Given the description of an element on the screen output the (x, y) to click on. 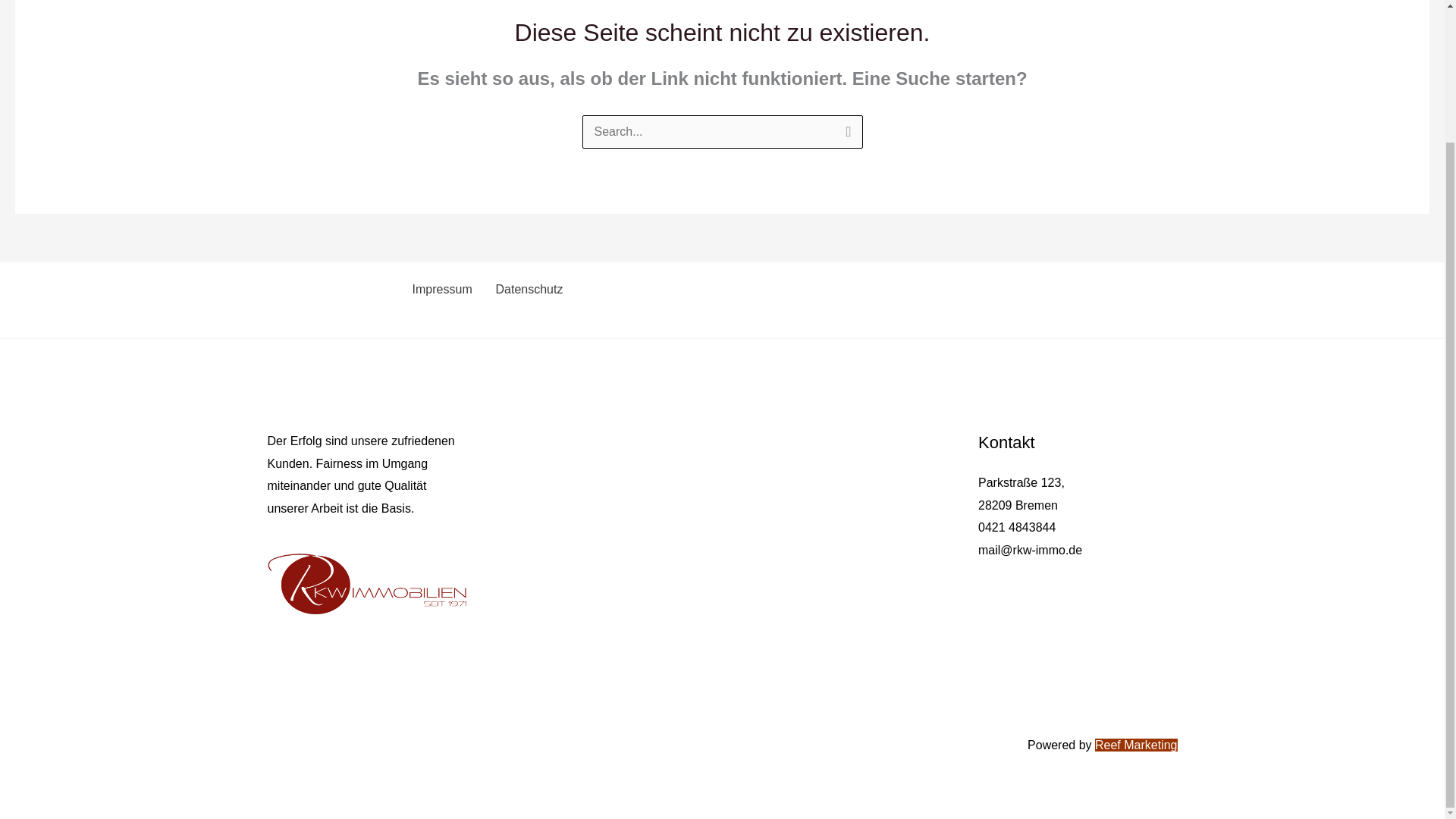
0421 4843844 (1016, 526)
Reef Marketing (1135, 744)
Datenschutz (526, 289)
28209 Bremen (1018, 504)
Impressum (440, 289)
